Given the description of an element on the screen output the (x, y) to click on. 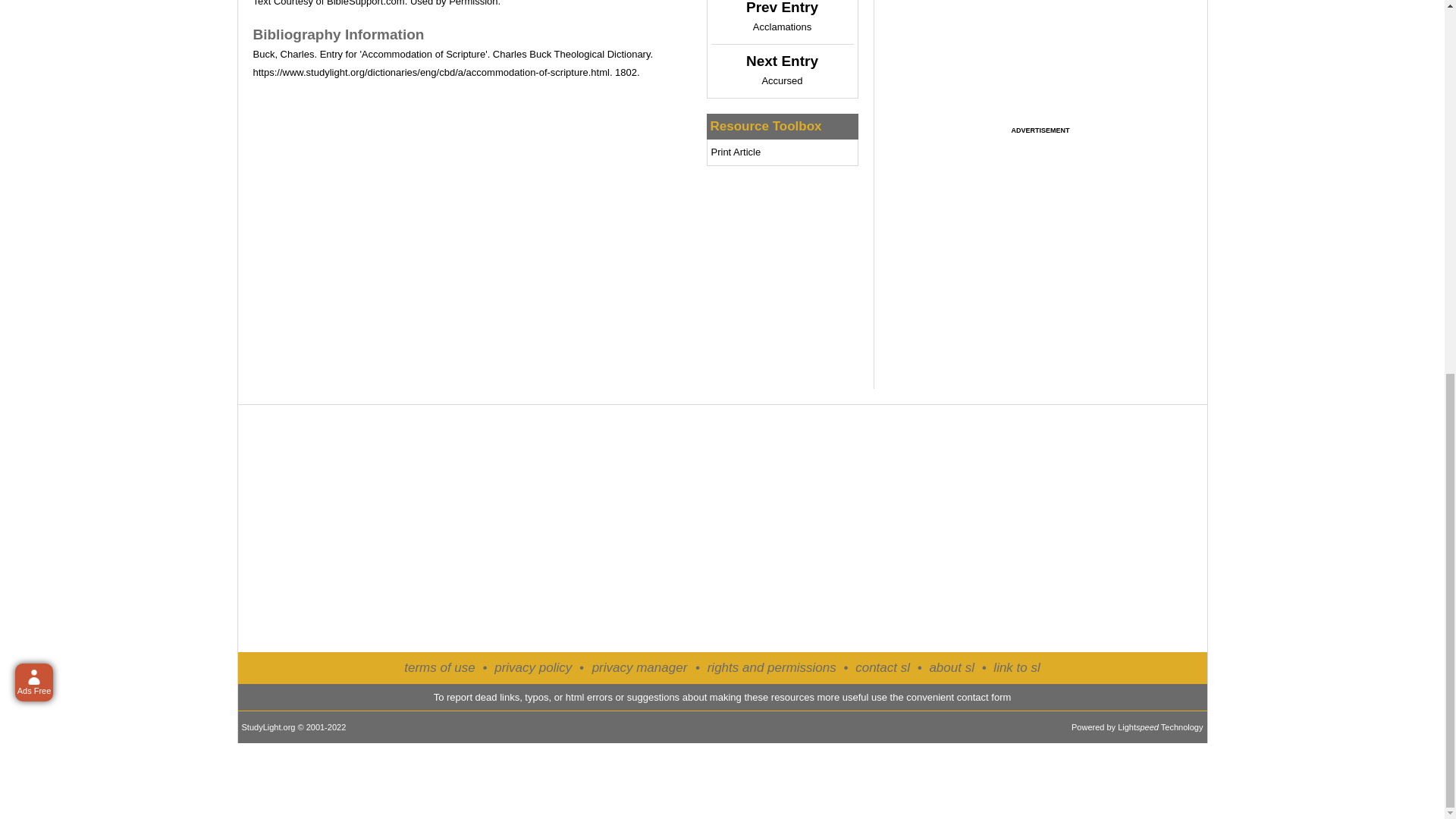
Accursed (781, 80)
terms of use (440, 667)
Acclamations (781, 26)
privacy policy (533, 667)
BibleSupport.com (365, 3)
Print Article (736, 152)
